Given the description of an element on the screen output the (x, y) to click on. 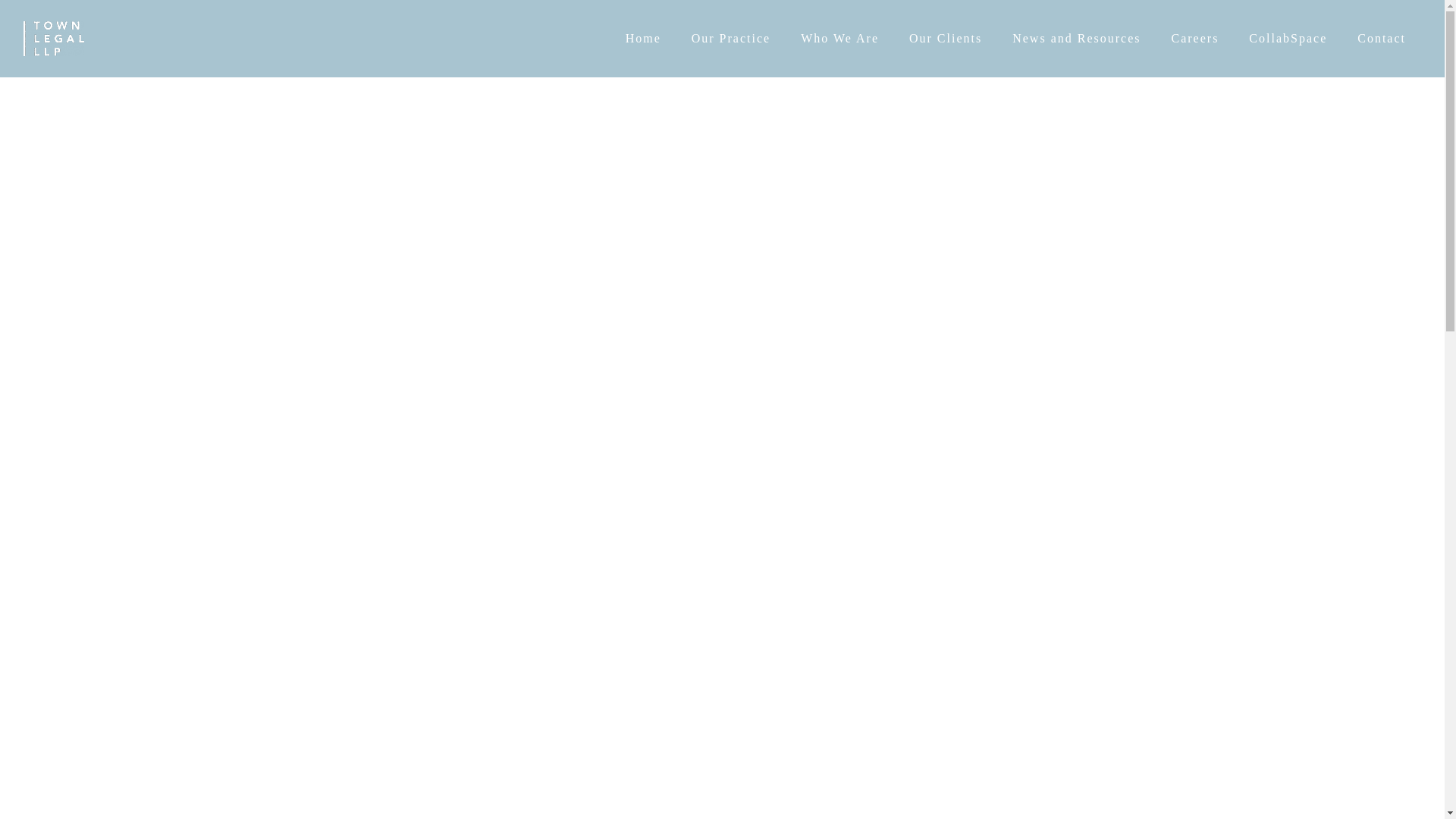
CollabSpace (1287, 38)
Our Practice (730, 38)
Our Clients (944, 38)
News and Resources (1075, 38)
Who We Are (839, 38)
Careers (1194, 38)
Home (643, 38)
Contact (1381, 38)
